Given the description of an element on the screen output the (x, y) to click on. 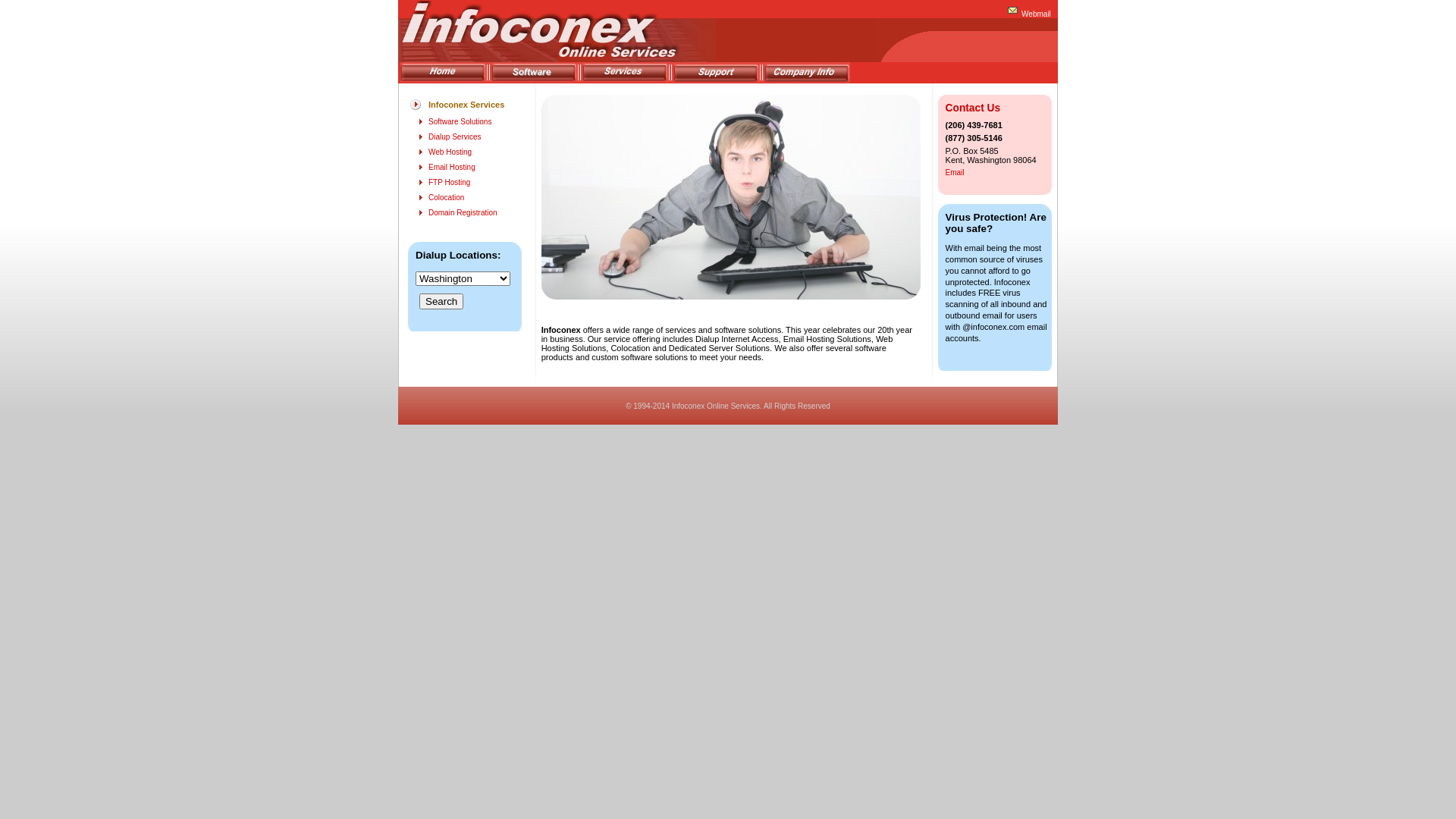
Search Element type: text (441, 301)
Web Hosting Element type: text (449, 151)
Dialup Services Element type: text (454, 136)
Email Element type: text (954, 172)
Webmail Element type: text (1036, 13)
Domain Registration Element type: text (462, 212)
Email Hosting Element type: text (451, 167)
Colocation Element type: text (446, 197)
Software Solutions Element type: text (459, 121)
FTP Hosting Element type: text (449, 182)
